Given the description of an element on the screen output the (x, y) to click on. 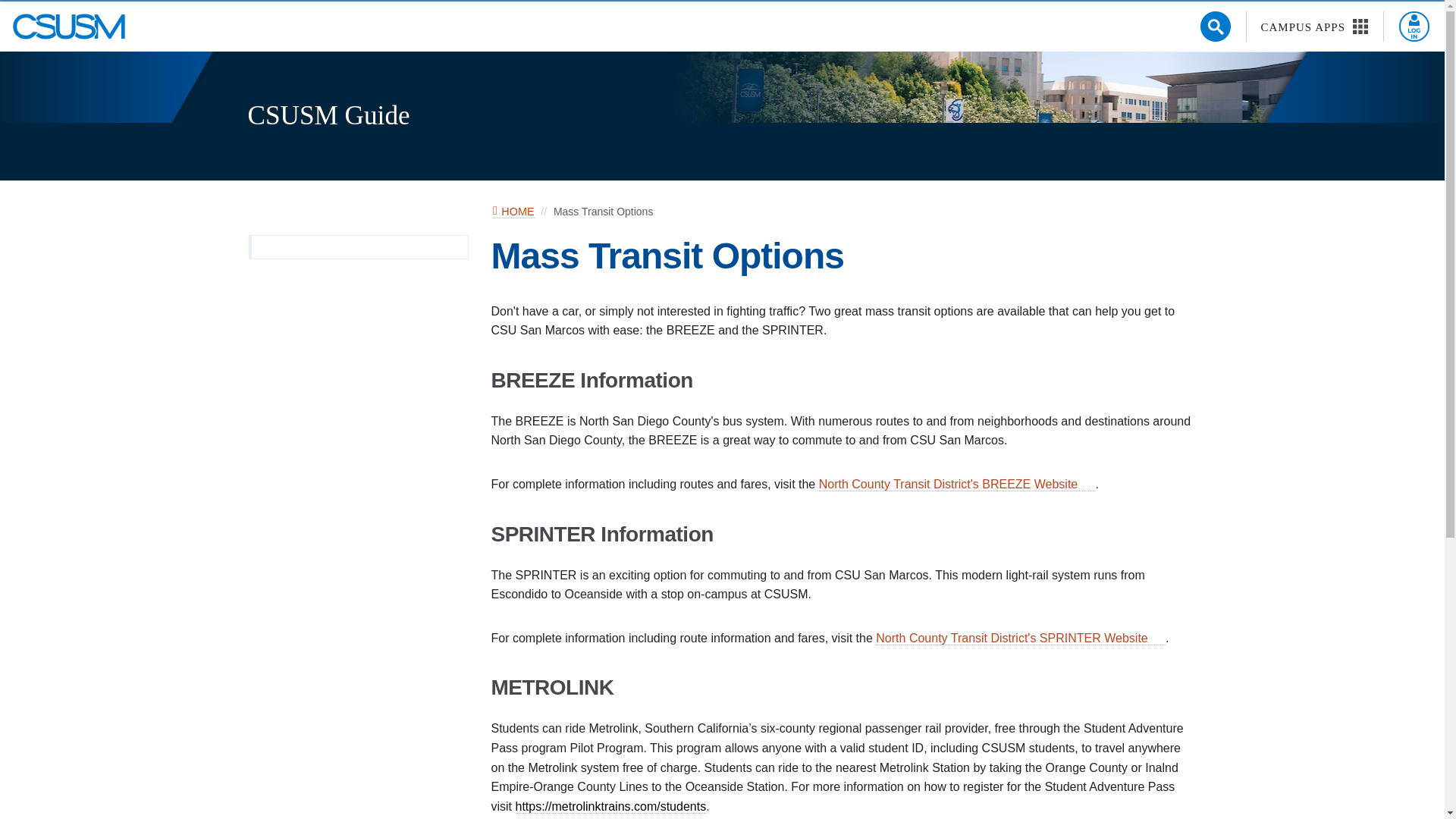
External website (610, 807)
External website (1021, 638)
External website (1159, 637)
HOME (513, 211)
CSUSM Guide (328, 115)
CAMPUS APPS (1314, 27)
External website (1088, 483)
